Given the description of an element on the screen output the (x, y) to click on. 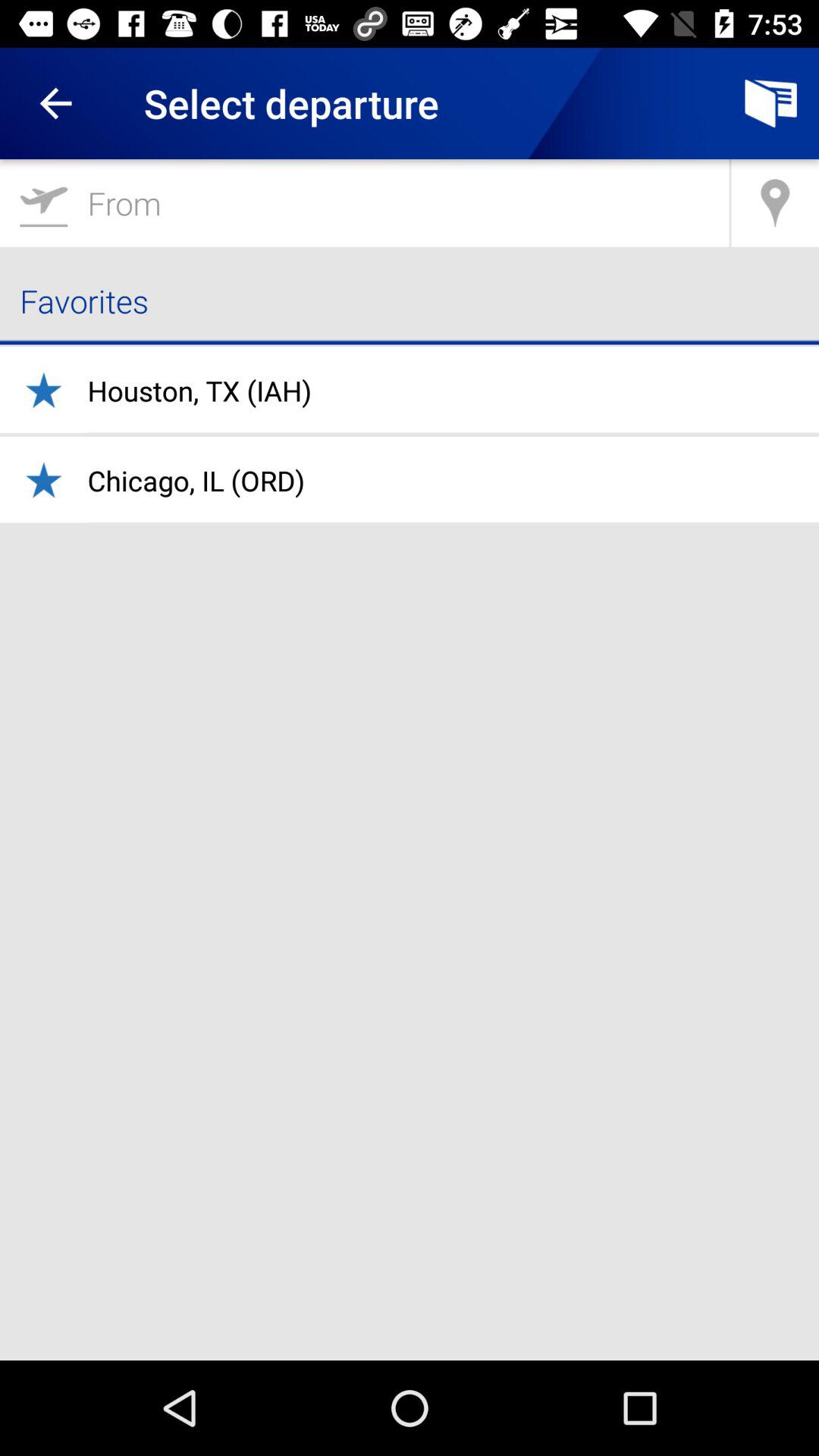
launch favorites (409, 300)
